Given the description of an element on the screen output the (x, y) to click on. 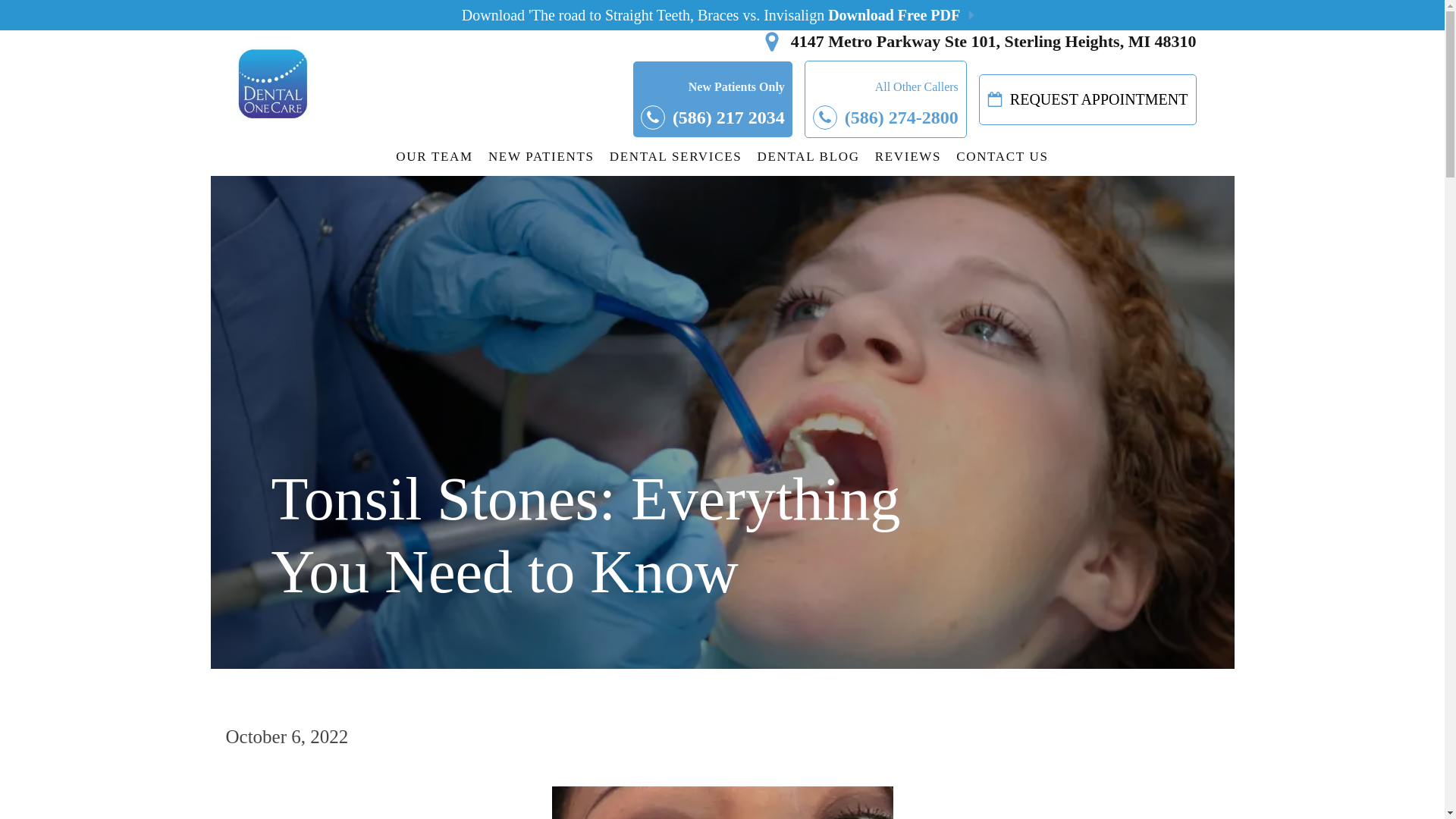
CONTACT US (1003, 156)
4147 Metro Parkway Ste 101, Sterling Heights, MI 48310 (757, 41)
DENTAL SERVICES (675, 156)
Download Free PDF (893, 14)
REVIEWS (908, 156)
REQUEST APPOINTMENT (1087, 99)
NEW PATIENTS (541, 156)
DENTAL BLOG (807, 156)
OUR TEAM (434, 156)
